Given the description of an element on the screen output the (x, y) to click on. 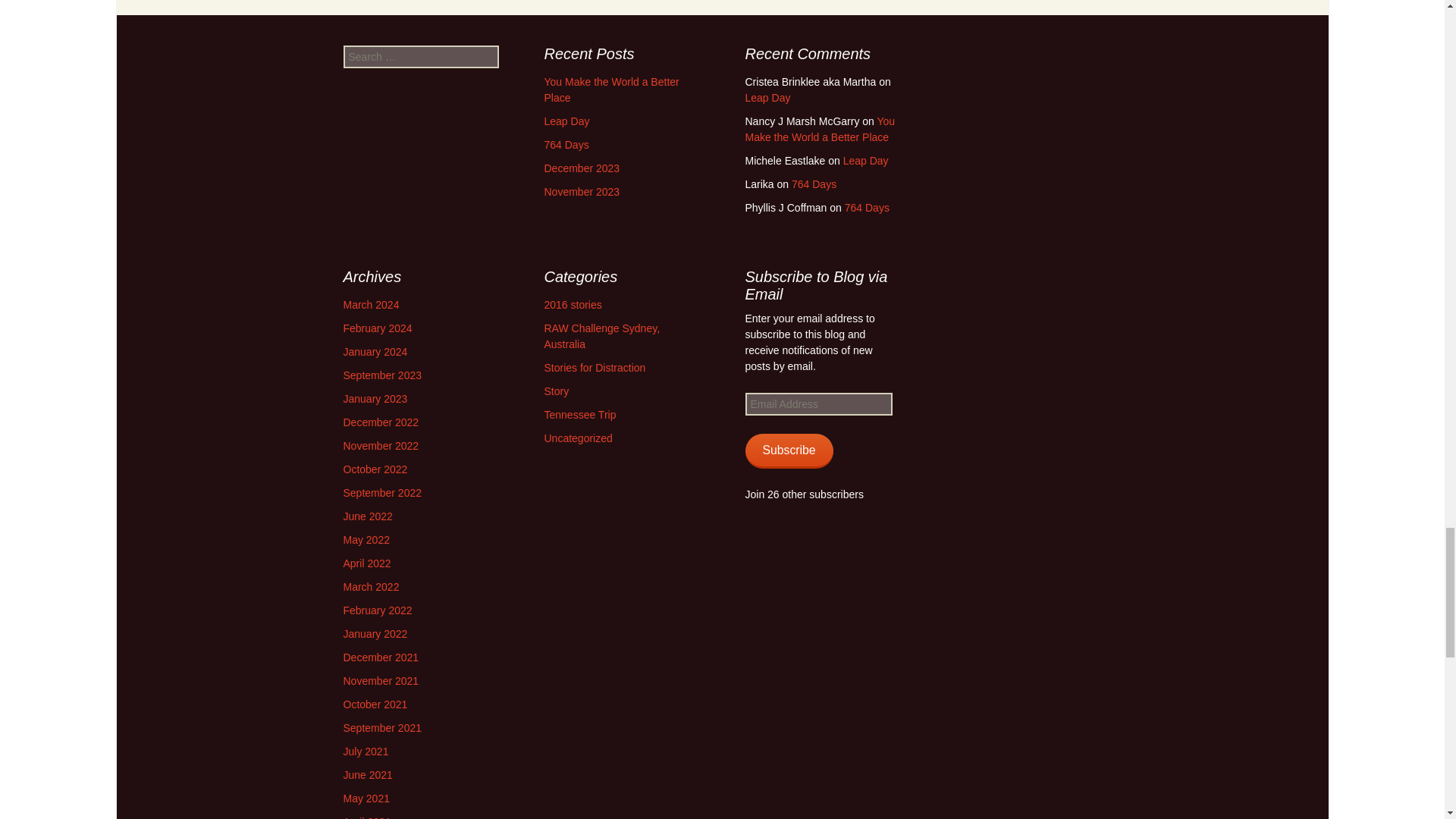
Leap Day (566, 121)
You Make the World a Better Place (611, 90)
764 Days (566, 144)
